Given the description of an element on the screen output the (x, y) to click on. 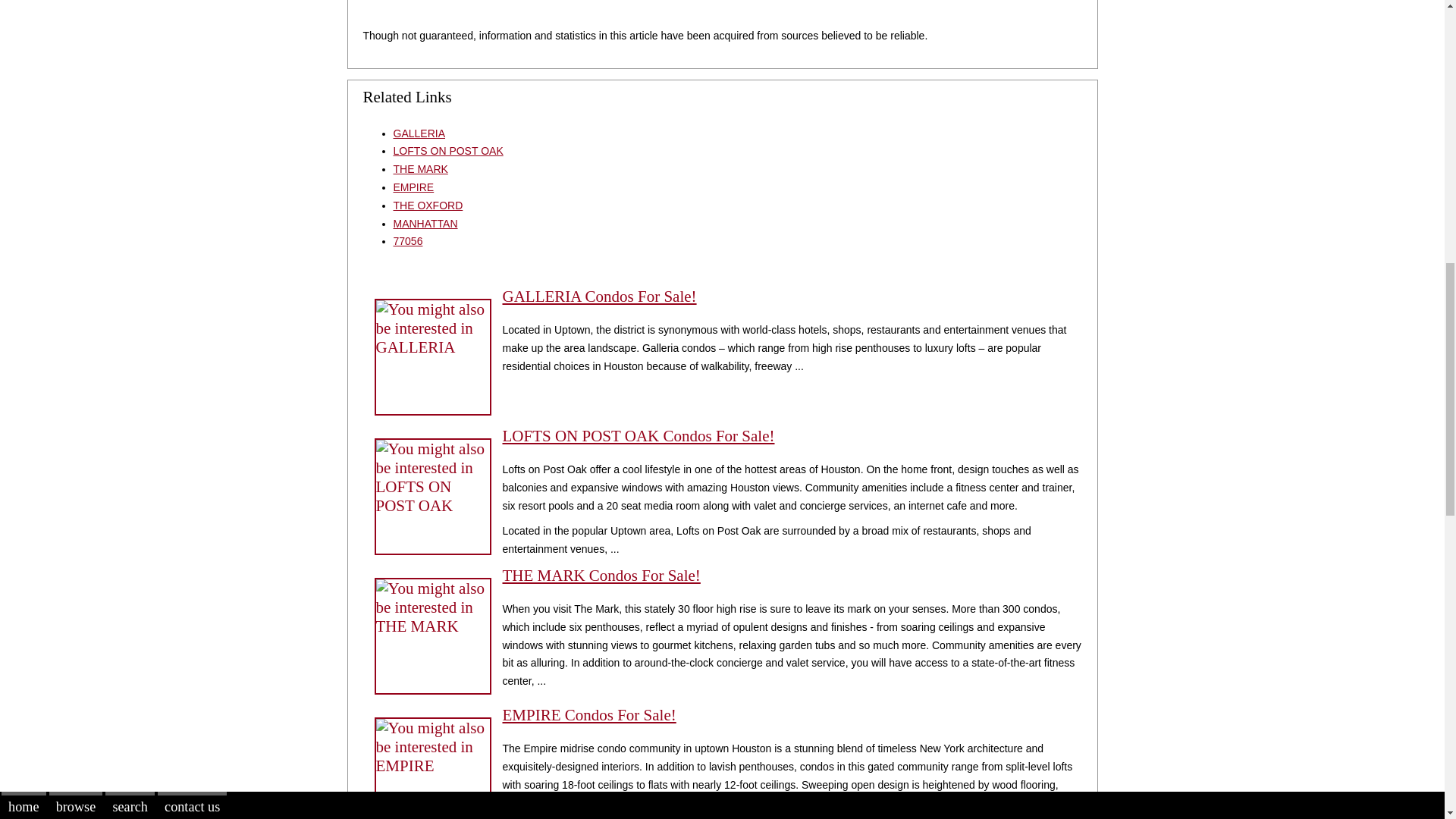
THE OXFORD (428, 205)
THE MARK Condos For Sale! (601, 575)
THE MARK Condos For Sale (433, 636)
EMPIRE Condos, Lofts and Townhomes For Sale (588, 714)
LOFTS ON POST OAK Condos For Sale (433, 496)
THE MARK Condos, Lofts and Townhomes For Sale (601, 575)
GALLERIA Condos For Sale (433, 356)
EMPIRE Condos For Sale! (588, 714)
THE MARK (419, 168)
77056 (407, 241)
LOFTS ON POST OAK (447, 150)
EMPIRE Condos For Sale (433, 768)
GALLERIA Condos, Lofts and Townhomes For Sale (598, 296)
LOFTS ON POST OAK Condos For Sale! (638, 435)
EMPIRE (413, 186)
